Given the description of an element on the screen output the (x, y) to click on. 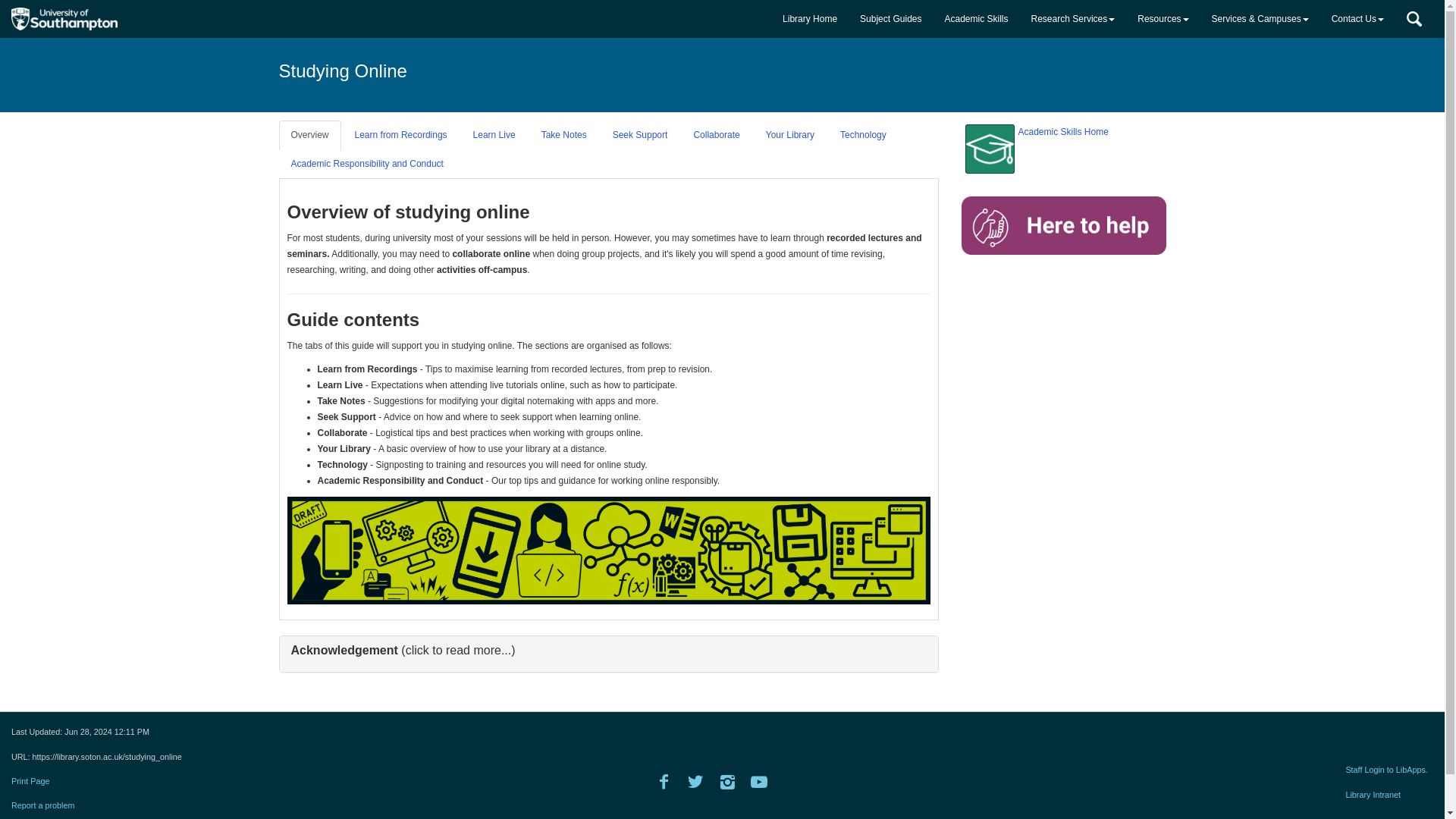
Library Home (809, 18)
Resources (1162, 18)
Subject Guides (890, 18)
Research Services (1073, 18)
Academic Skills (976, 18)
Library Intranet: Staff Only (1380, 794)
